Given the description of an element on the screen output the (x, y) to click on. 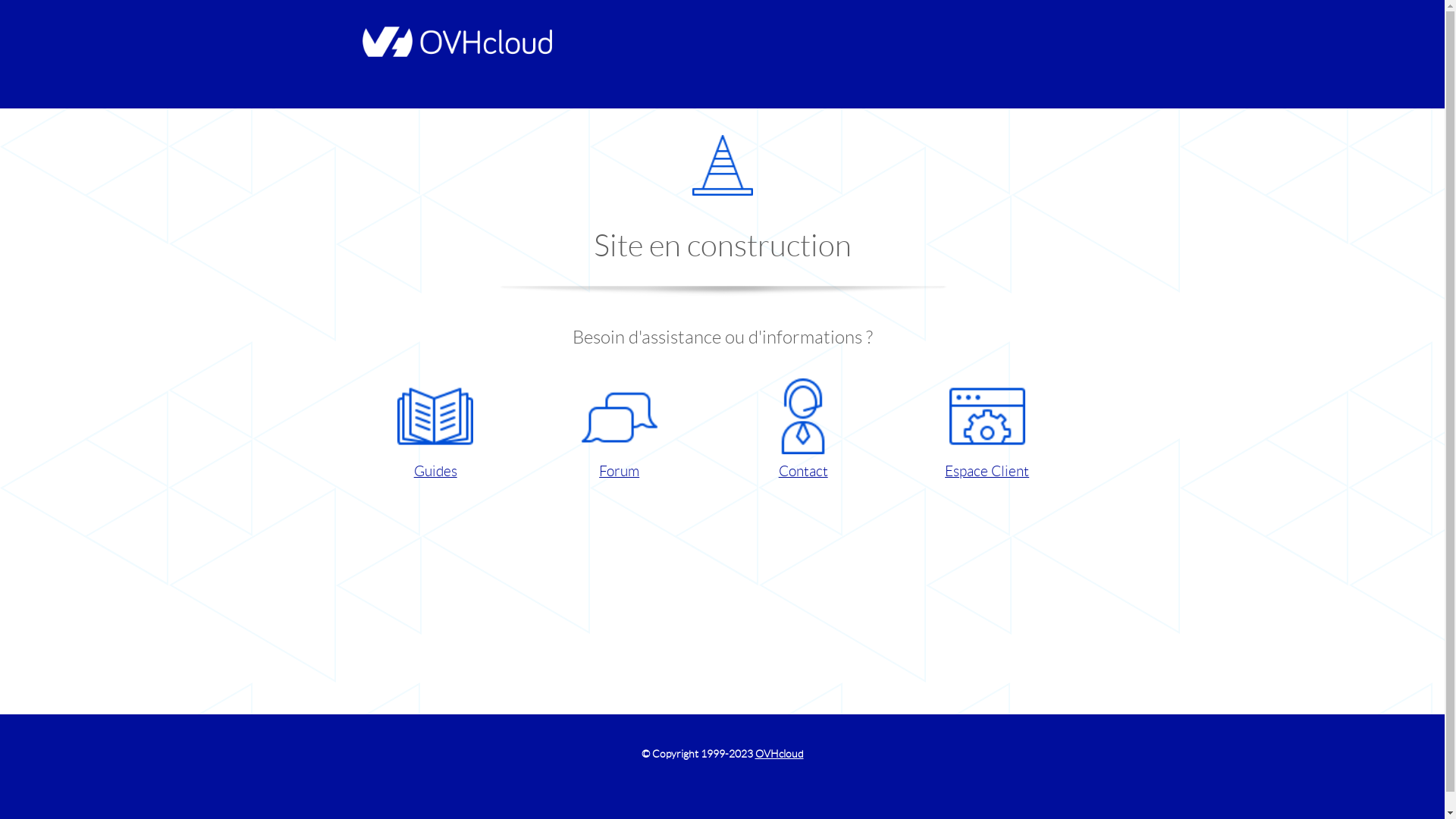
Espace Client Element type: text (986, 430)
OVHcloud Element type: text (779, 753)
Forum Element type: text (618, 430)
Guides Element type: text (435, 430)
Contact Element type: text (802, 430)
